Given the description of an element on the screen output the (x, y) to click on. 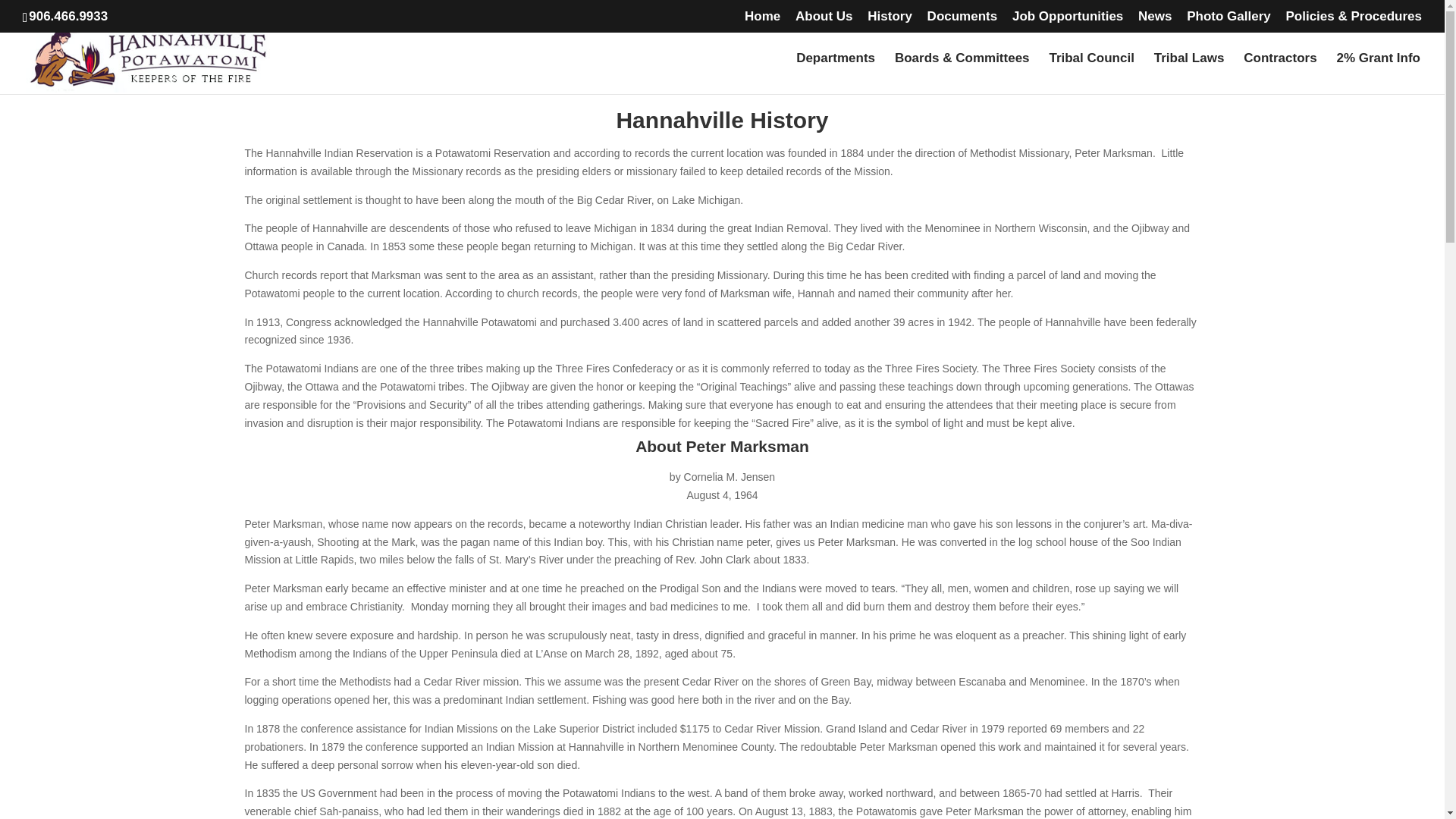
Photo Gallery (1228, 20)
History (889, 20)
Tribal Laws (1189, 73)
Departments (835, 73)
Home (762, 20)
Documents (962, 20)
Tribal Council (1091, 73)
News (1155, 20)
Contractors (1279, 73)
Job Opportunities (1066, 20)
